Given the description of an element on the screen output the (x, y) to click on. 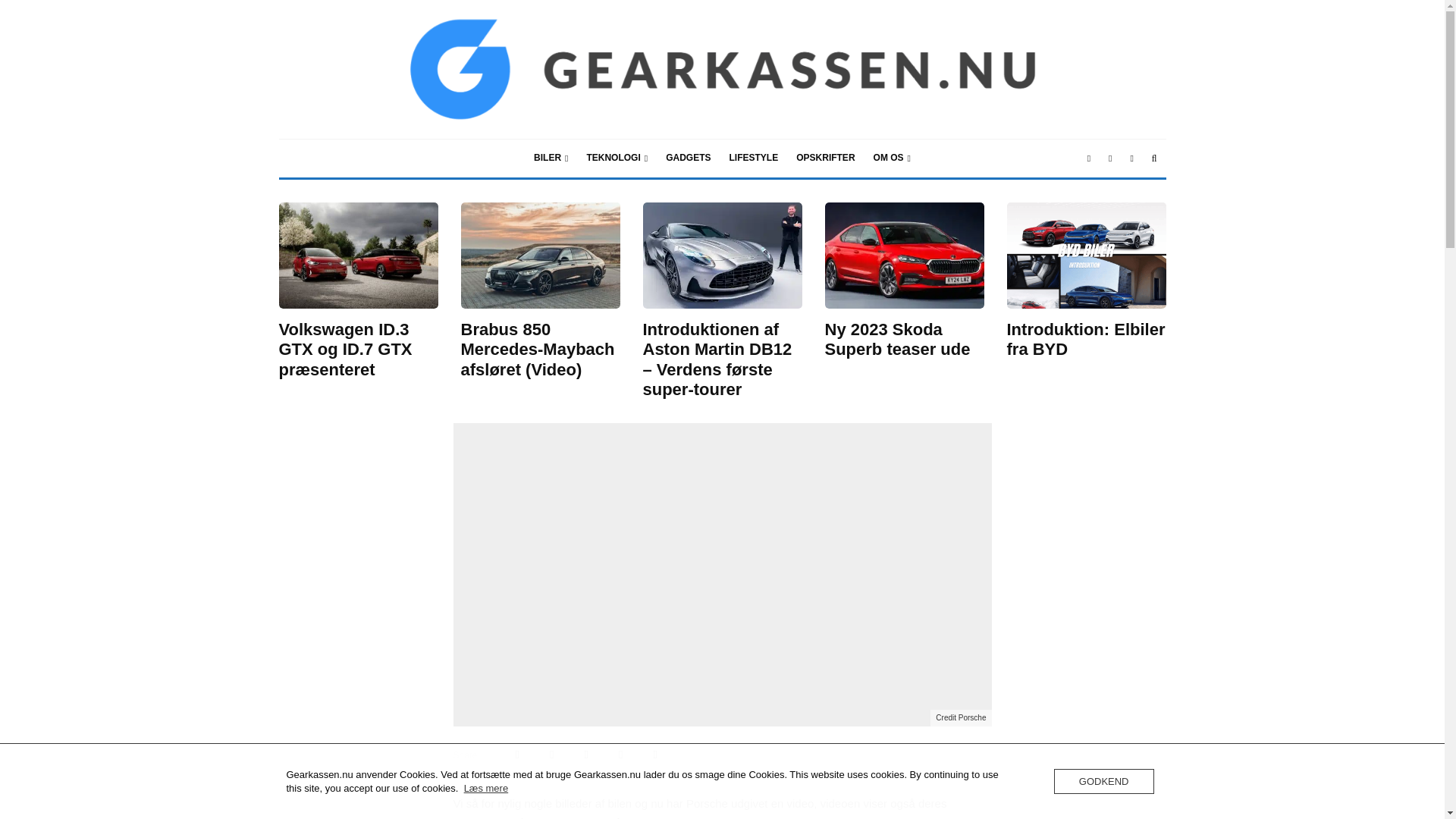
BILER (550, 158)
OM OS (892, 158)
LIFESTYLE (753, 158)
TEKNOLOGI (616, 158)
GADGETS (687, 158)
Introduktion: Elbiler fra BYD (1086, 340)
OPSKRIFTER (825, 158)
Ny 2023 Skoda Superb teaser ude (904, 340)
